Given the description of an element on the screen output the (x, y) to click on. 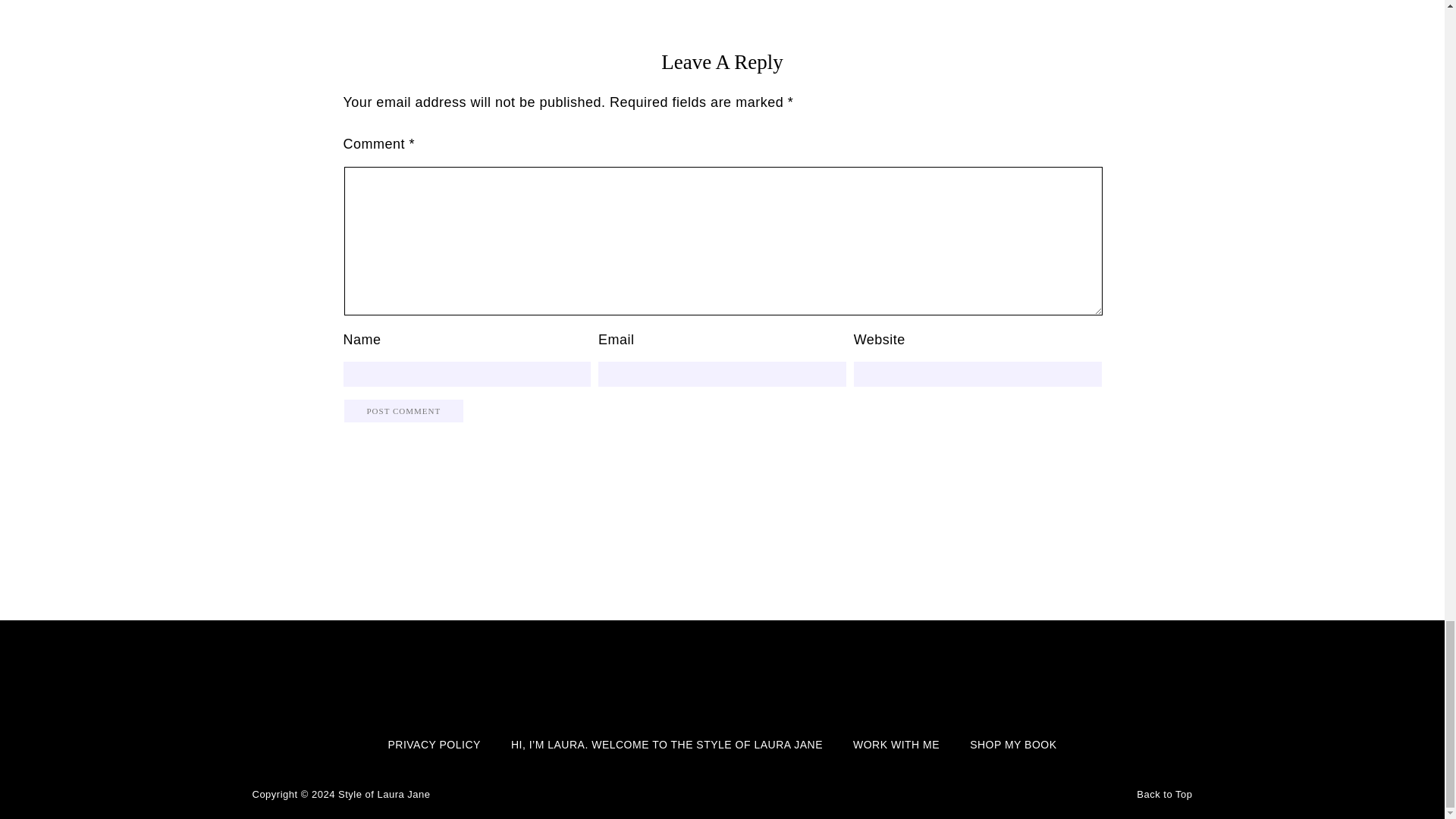
Style of Laura Jane (383, 794)
Post Comment (403, 411)
